Given the description of an element on the screen output the (x, y) to click on. 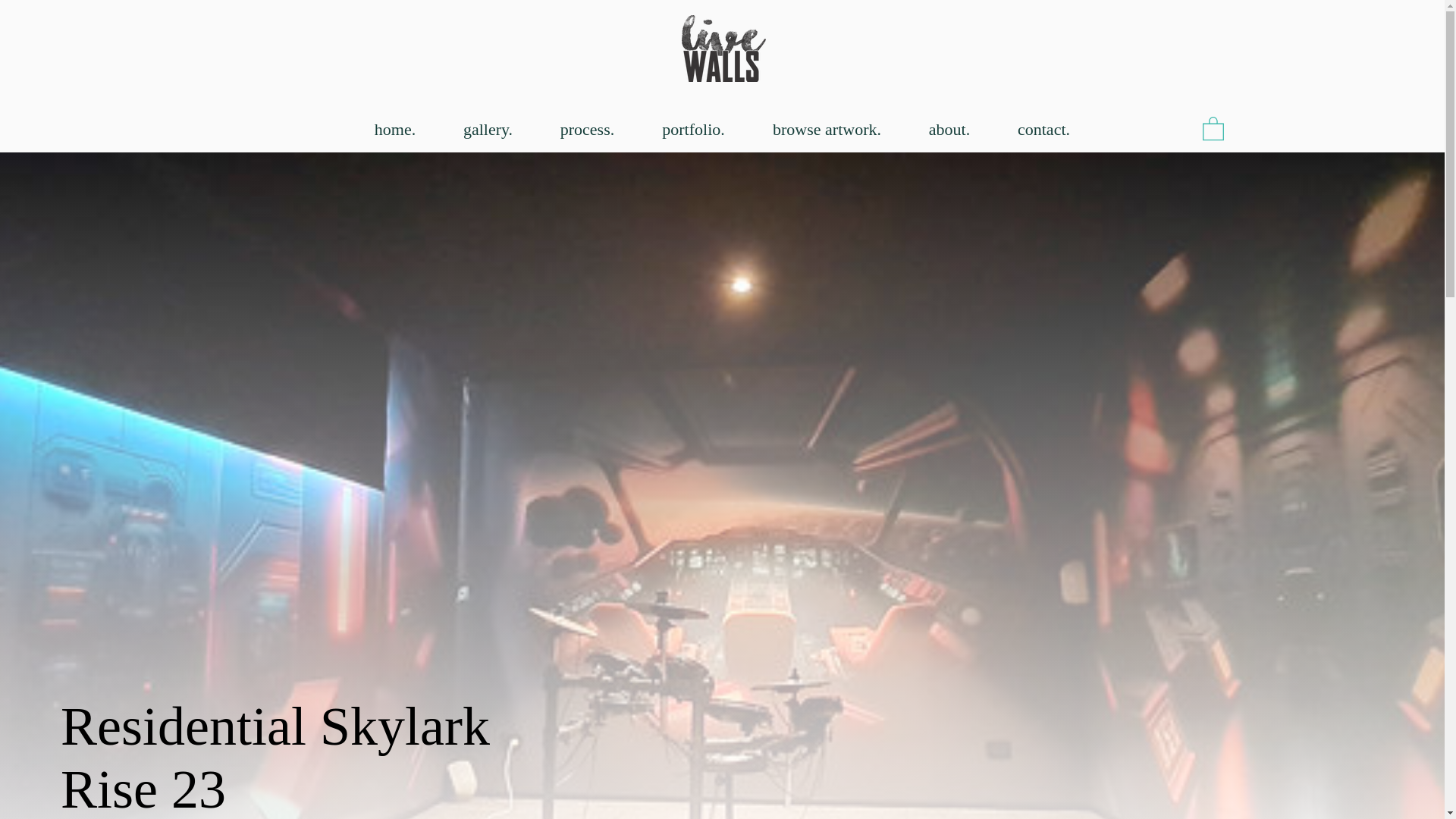
gallery. (488, 129)
about. (949, 129)
browse artwork. (827, 129)
process. (588, 129)
portfolio. (694, 129)
home. (394, 129)
contact. (1042, 129)
